Given the description of an element on the screen output the (x, y) to click on. 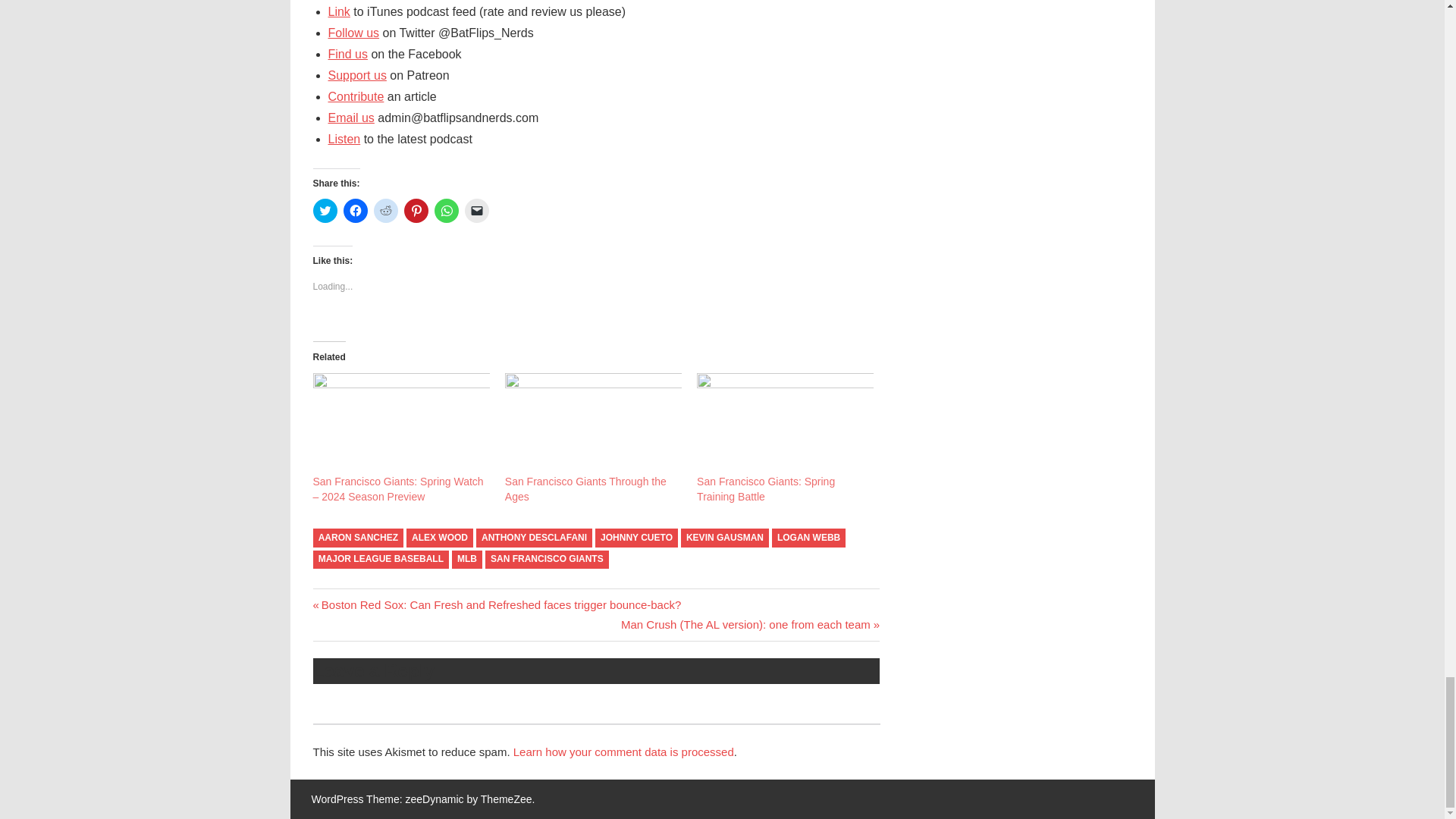
Click to share on Reddit (384, 210)
San Francisco Giants Through the Ages (593, 423)
Click to share on Facebook (354, 210)
Click to email a link to a friend (475, 210)
Click to share on Pinterest (415, 210)
San Francisco Giants Through the Ages (585, 488)
San Francisco Giants: Spring Training Battle (785, 423)
Click to share on WhatsApp (445, 210)
Click to share on Twitter (324, 210)
